Given the description of an element on the screen output the (x, y) to click on. 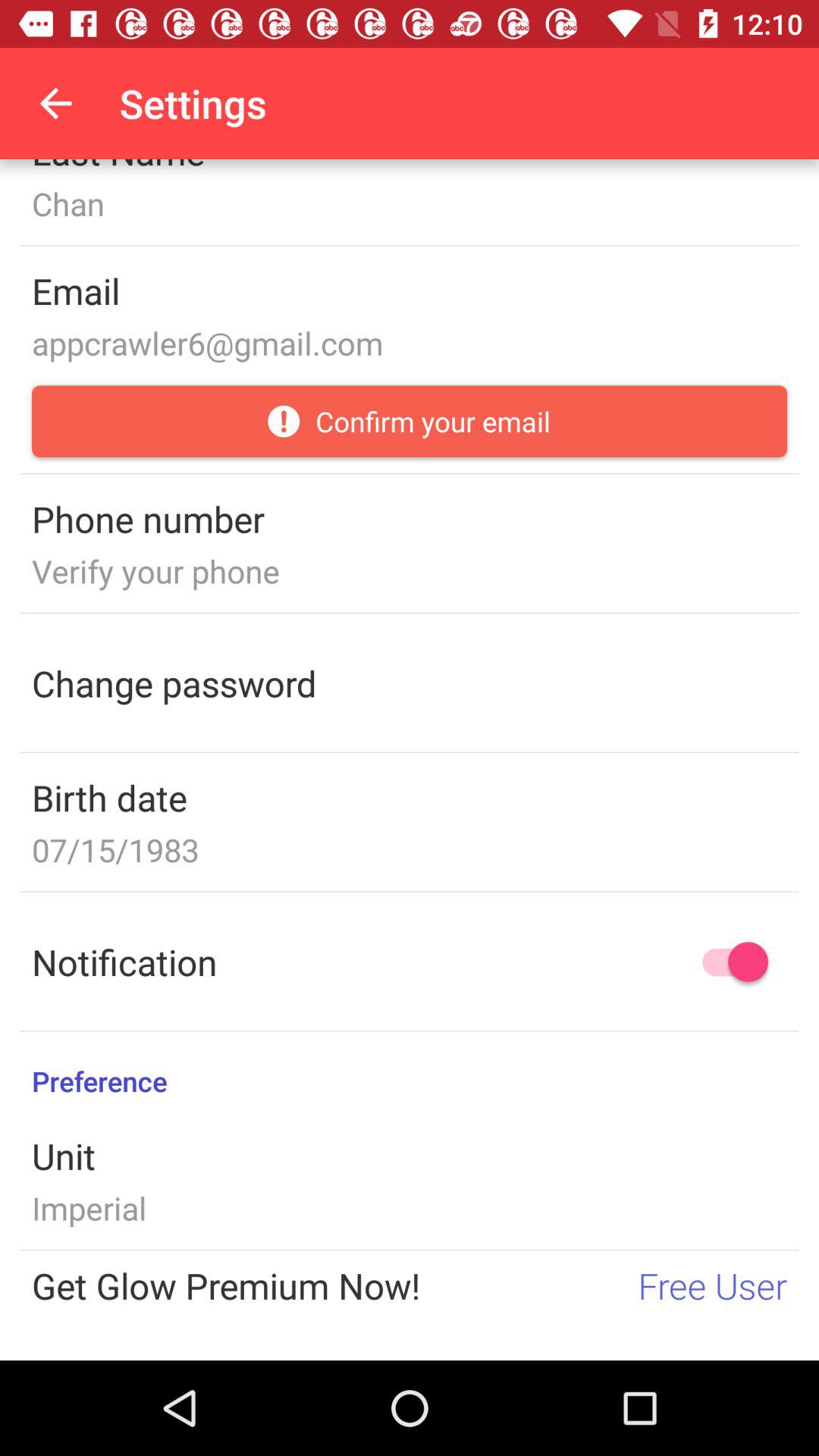
press item to the right of get glow premium item (712, 1285)
